Given the description of an element on the screen output the (x, y) to click on. 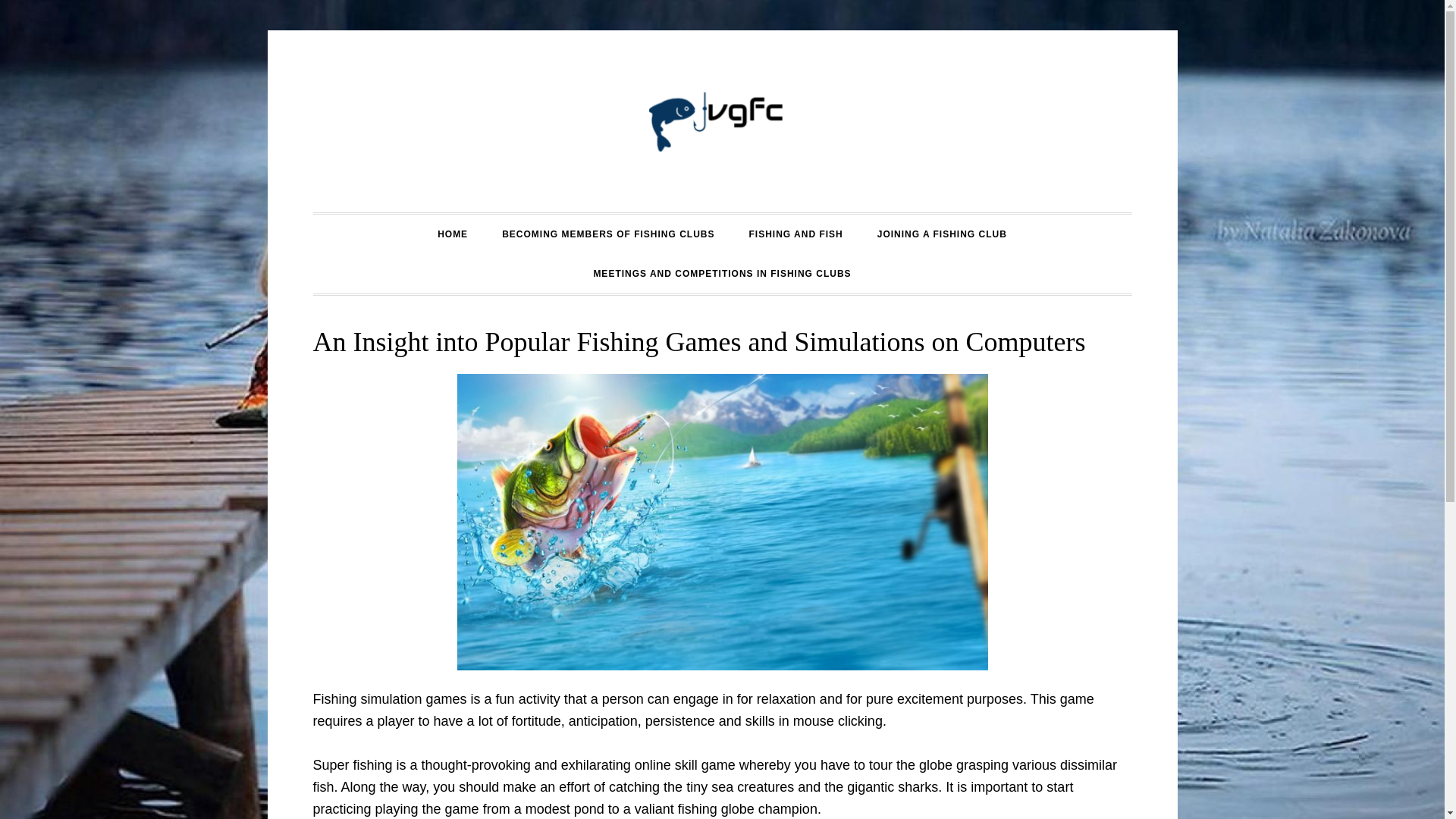
HOME (452, 233)
BECOMING MEMBERS OF FISHING CLUBS (607, 233)
MEETINGS AND COMPETITIONS IN FISHING CLUBS (722, 273)
VGFC (721, 120)
JOINING A FISHING CLUB (941, 233)
FISHING AND FISH (796, 233)
